Given the description of an element on the screen output the (x, y) to click on. 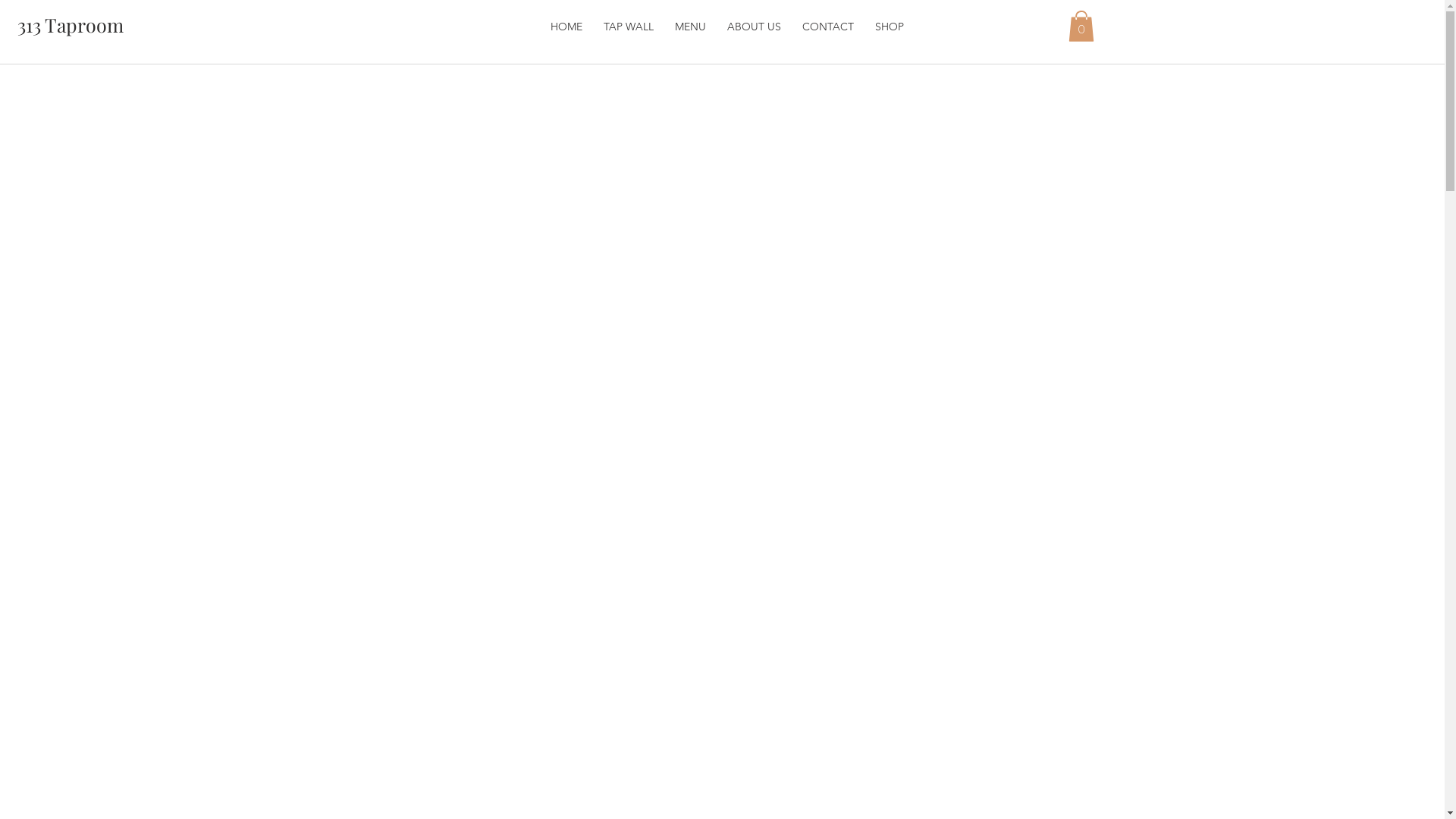
0 Element type: text (1080, 25)
313 Taproom Element type: text (70, 24)
CONTACT Element type: text (827, 26)
MENU Element type: text (690, 26)
ABOUT US Element type: text (752, 26)
TAP WALL Element type: text (628, 26)
SHOP Element type: text (889, 26)
HOME Element type: text (565, 26)
